Given the description of an element on the screen output the (x, y) to click on. 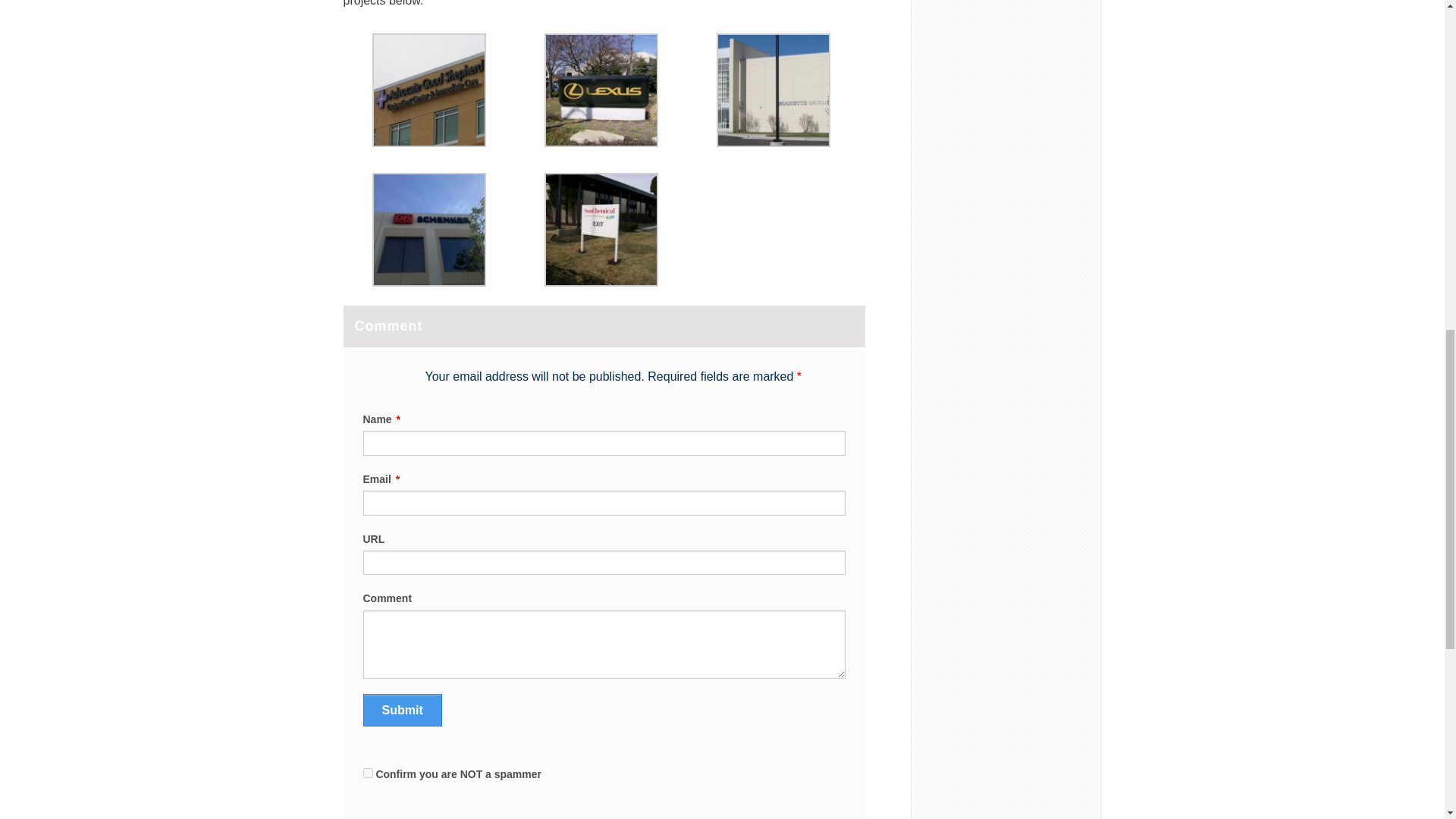
Submit (401, 709)
Submit (401, 709)
on (367, 773)
